Given the description of an element on the screen output the (x, y) to click on. 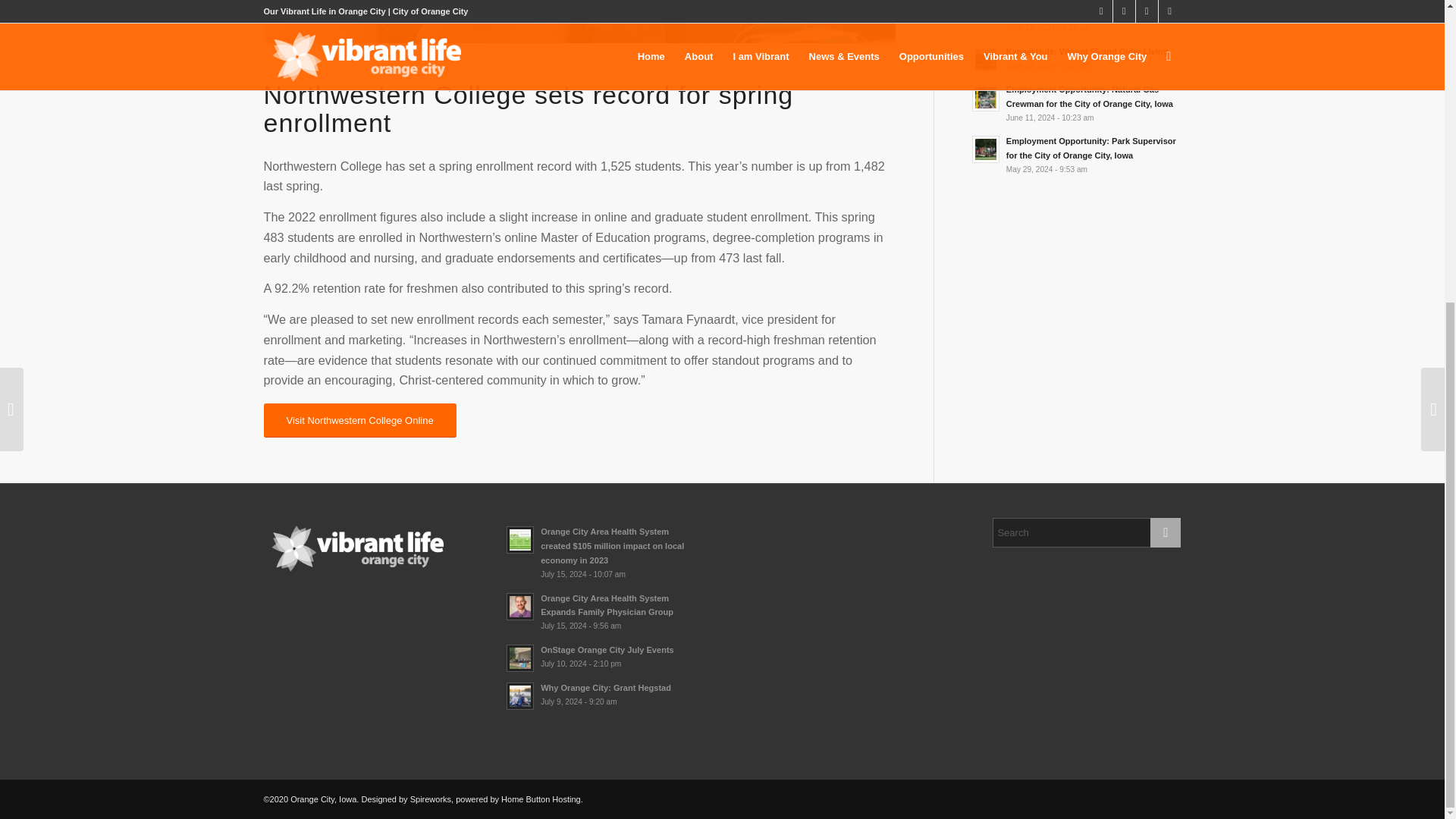
2022-spring-enrollment (579, 21)
Visit Northwestern College Online (360, 420)
